Given the description of an element on the screen output the (x, y) to click on. 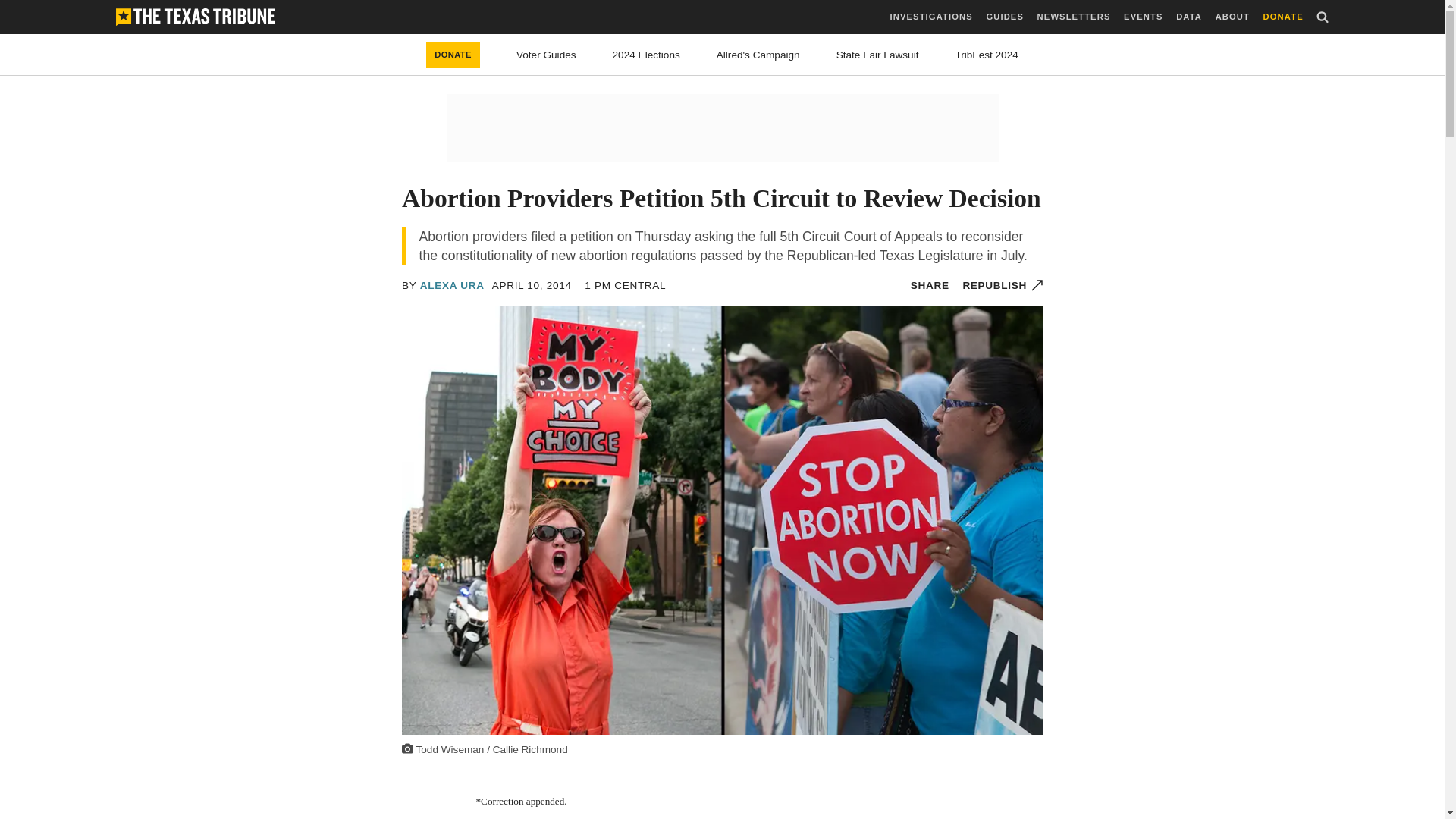
State Fair Lawsuit (876, 54)
NEWSLETTERS (1073, 17)
DONATE (1283, 17)
Voter Guides (546, 54)
INVESTIGATIONS (930, 17)
2014-04-10 13:16 CDT (625, 285)
EVENTS (1142, 17)
2014-04-10 13:16 CDT (532, 285)
ALEXA URA (452, 285)
2024 Elections (645, 54)
